Given the description of an element on the screen output the (x, y) to click on. 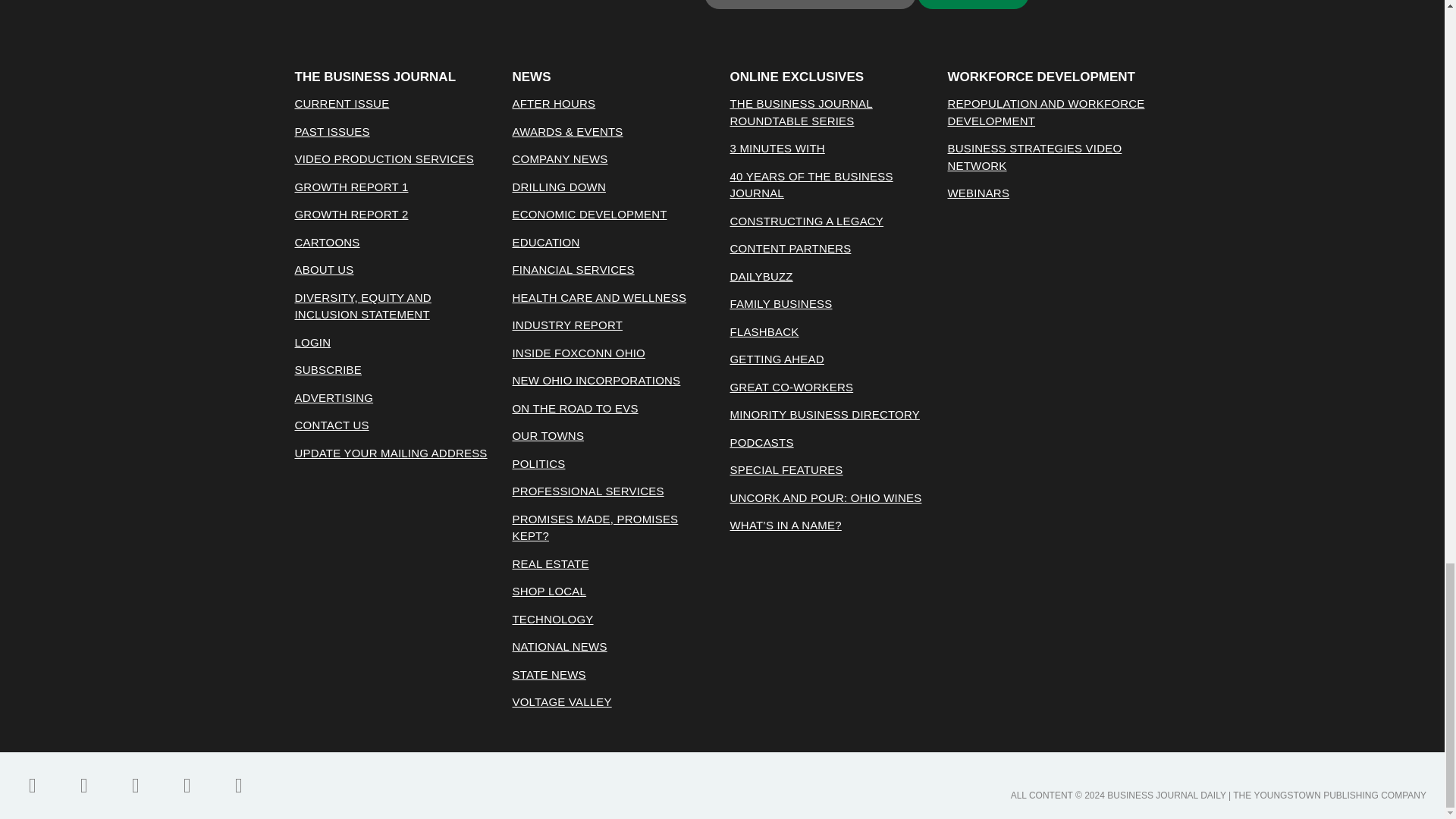
Sign Up (973, 4)
